Given the description of an element on the screen output the (x, y) to click on. 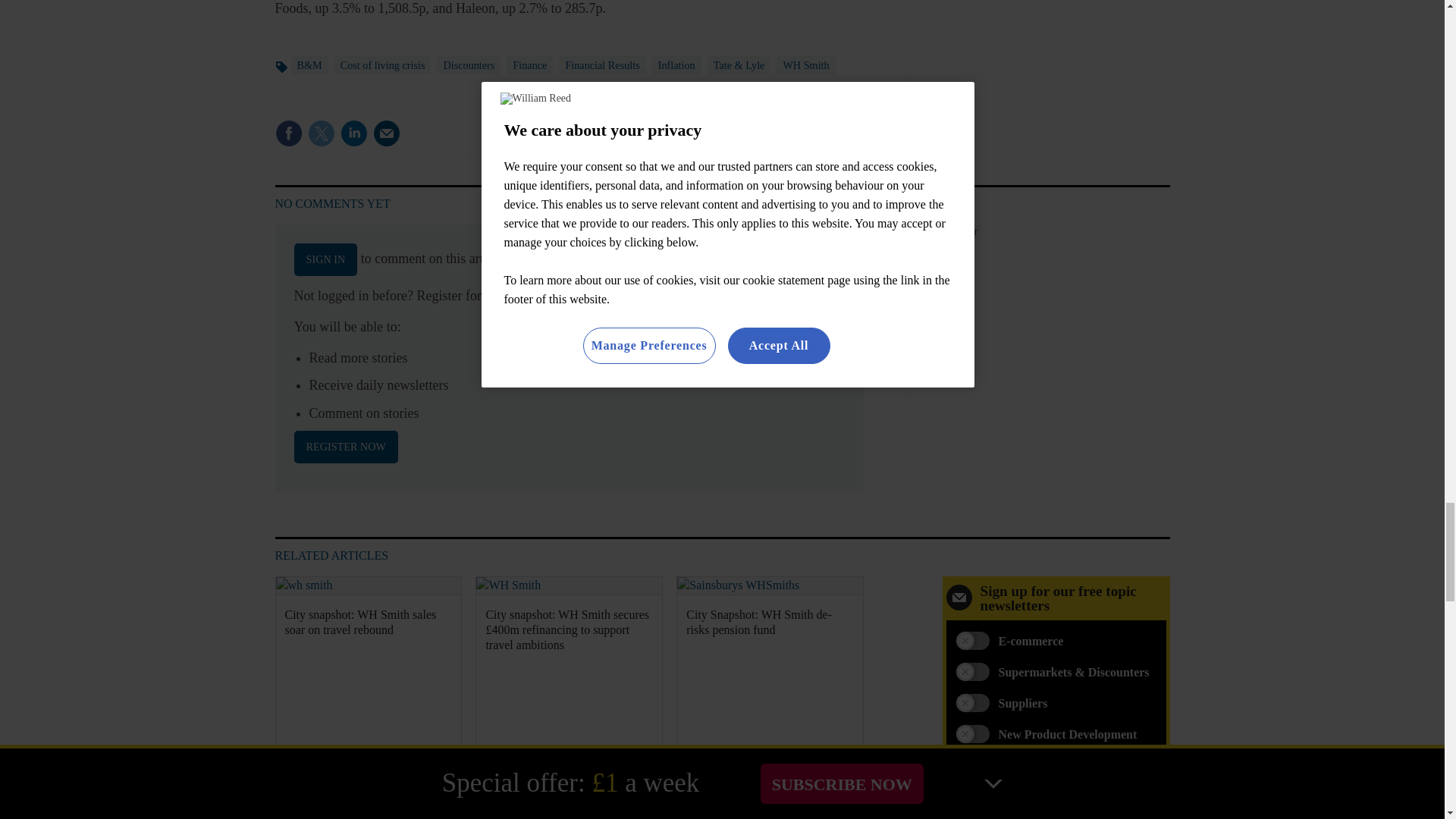
Email this article (386, 133)
Share this on Facebook (288, 133)
Share this on Linked in (352, 133)
Share this on Twitter (320, 133)
